Given the description of an element on the screen output the (x, y) to click on. 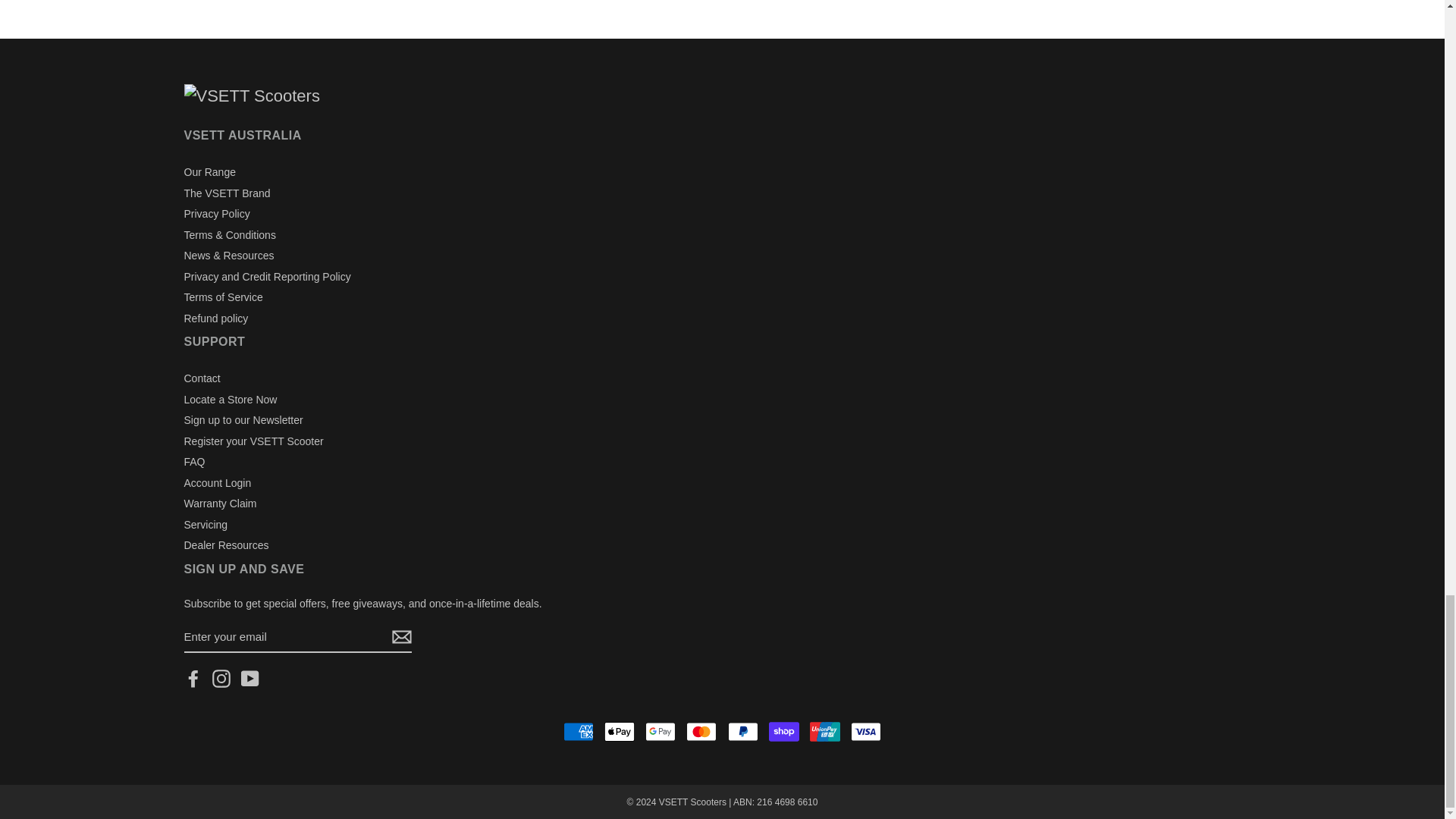
American Express (578, 731)
VSETT Scooters on Facebook (192, 678)
Apple Pay (619, 731)
VSETT Scooters on YouTube (250, 678)
Shop Pay (783, 731)
Google Pay (660, 731)
Mastercard (700, 731)
PayPal (743, 731)
VSETT Scooters on Instagram (221, 678)
